Given the description of an element on the screen output the (x, y) to click on. 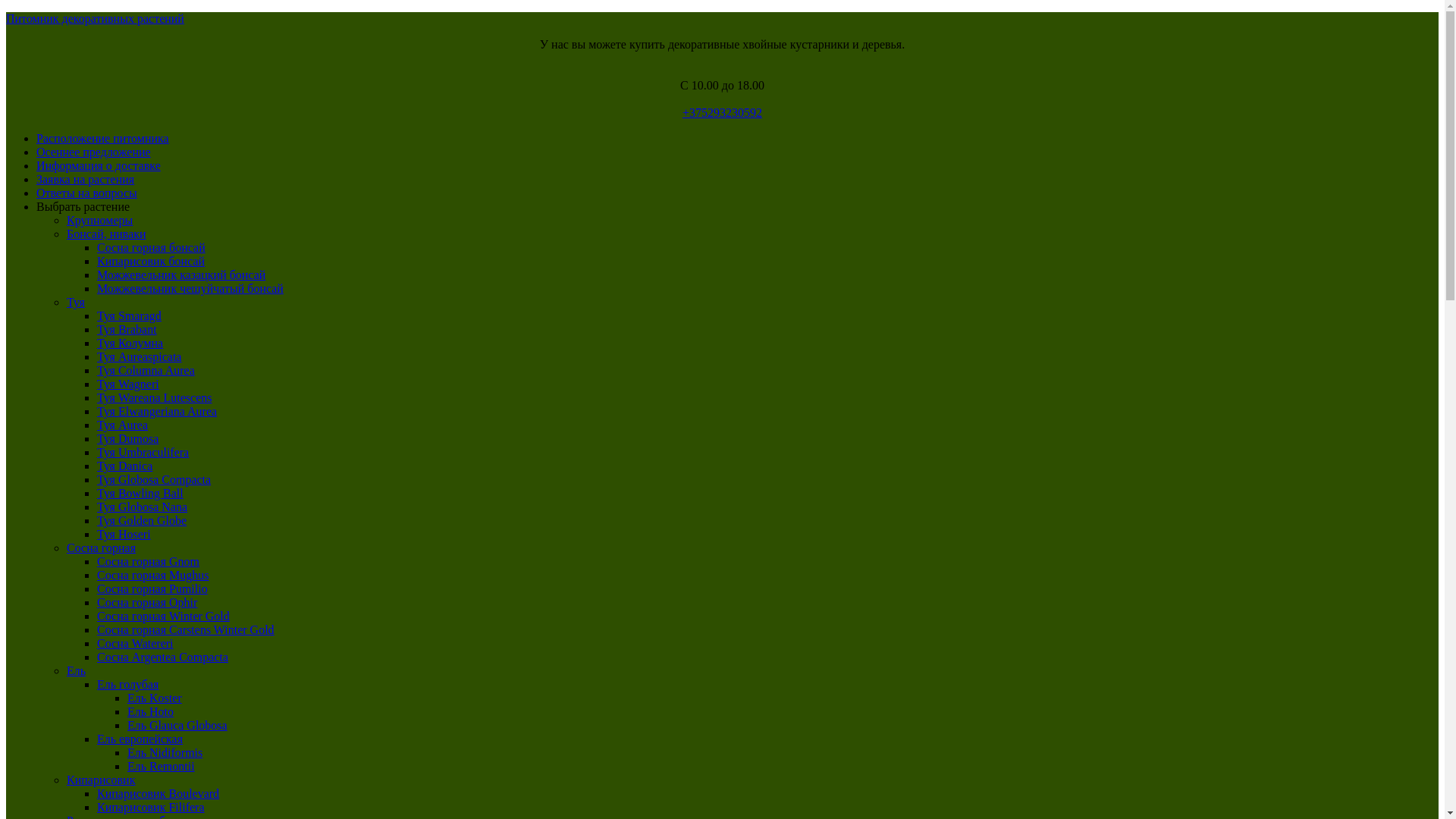
+375293230592 Element type: text (722, 112)
